Given the description of an element on the screen output the (x, y) to click on. 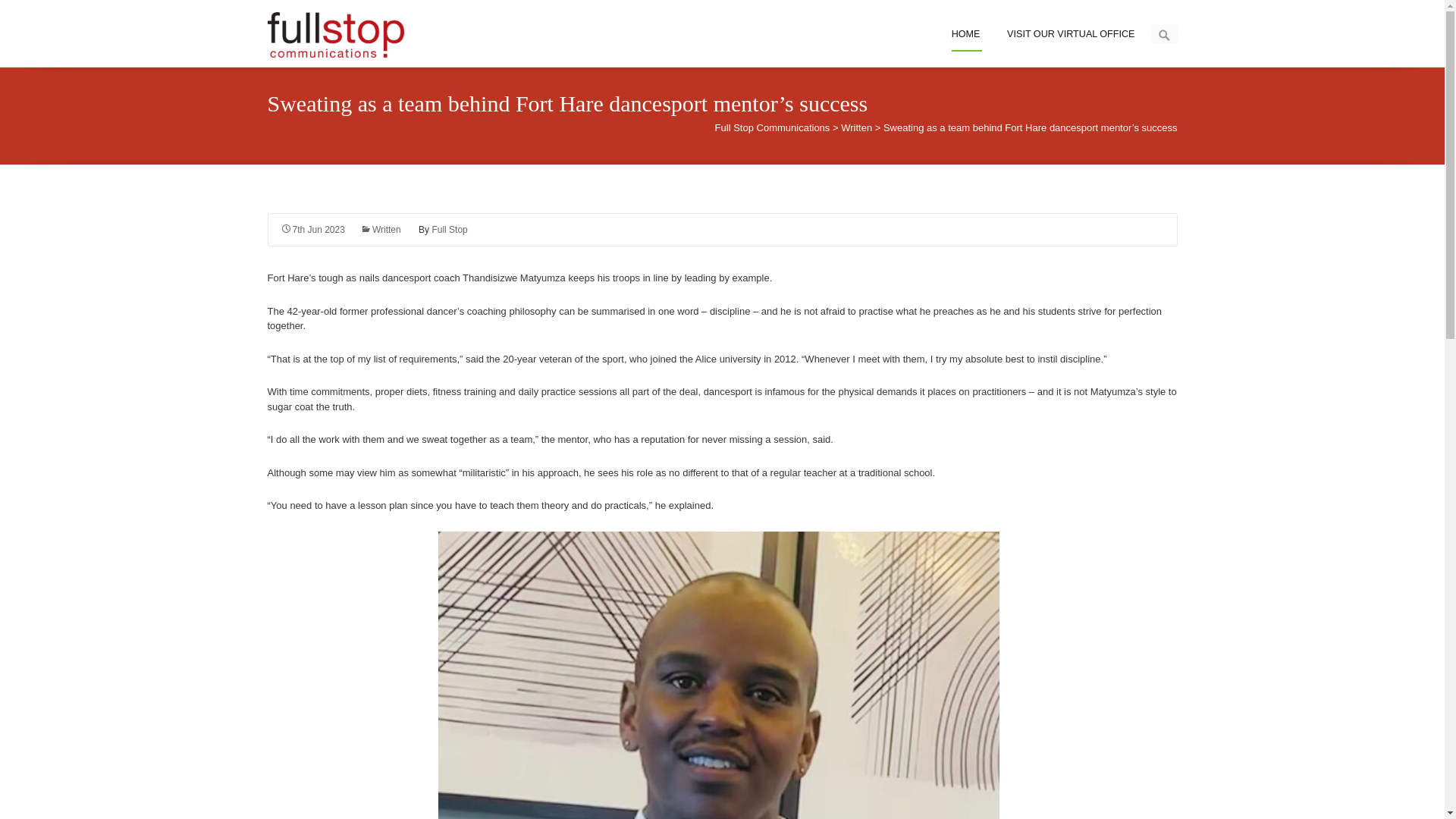
Search for: (1163, 33)
Written (380, 229)
Go to the Written Category archives. (856, 127)
Go to Full Stop Communications. (771, 127)
VISIT OUR VIRTUAL OFFICE (1070, 34)
Full Stop (448, 229)
Search (34, 13)
HOME (965, 34)
Full Stop Communications (342, 33)
7th Jun 2023 (313, 229)
Written (856, 127)
Full Stop Communications (771, 127)
